Given the description of an element on the screen output the (x, y) to click on. 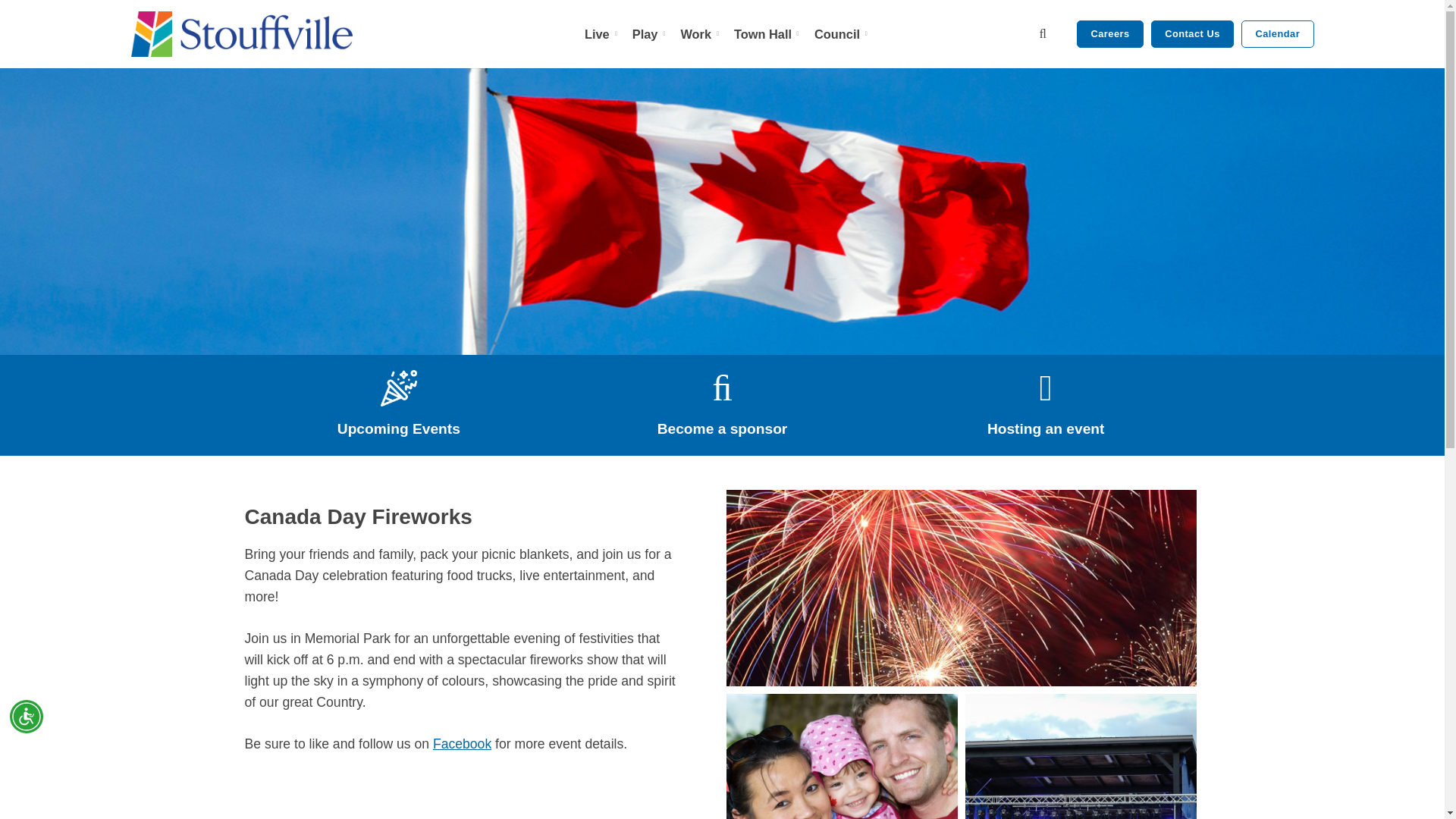
Town of Stouffville (241, 33)
Accessibility Menu (26, 716)
